Given the description of an element on the screen output the (x, y) to click on. 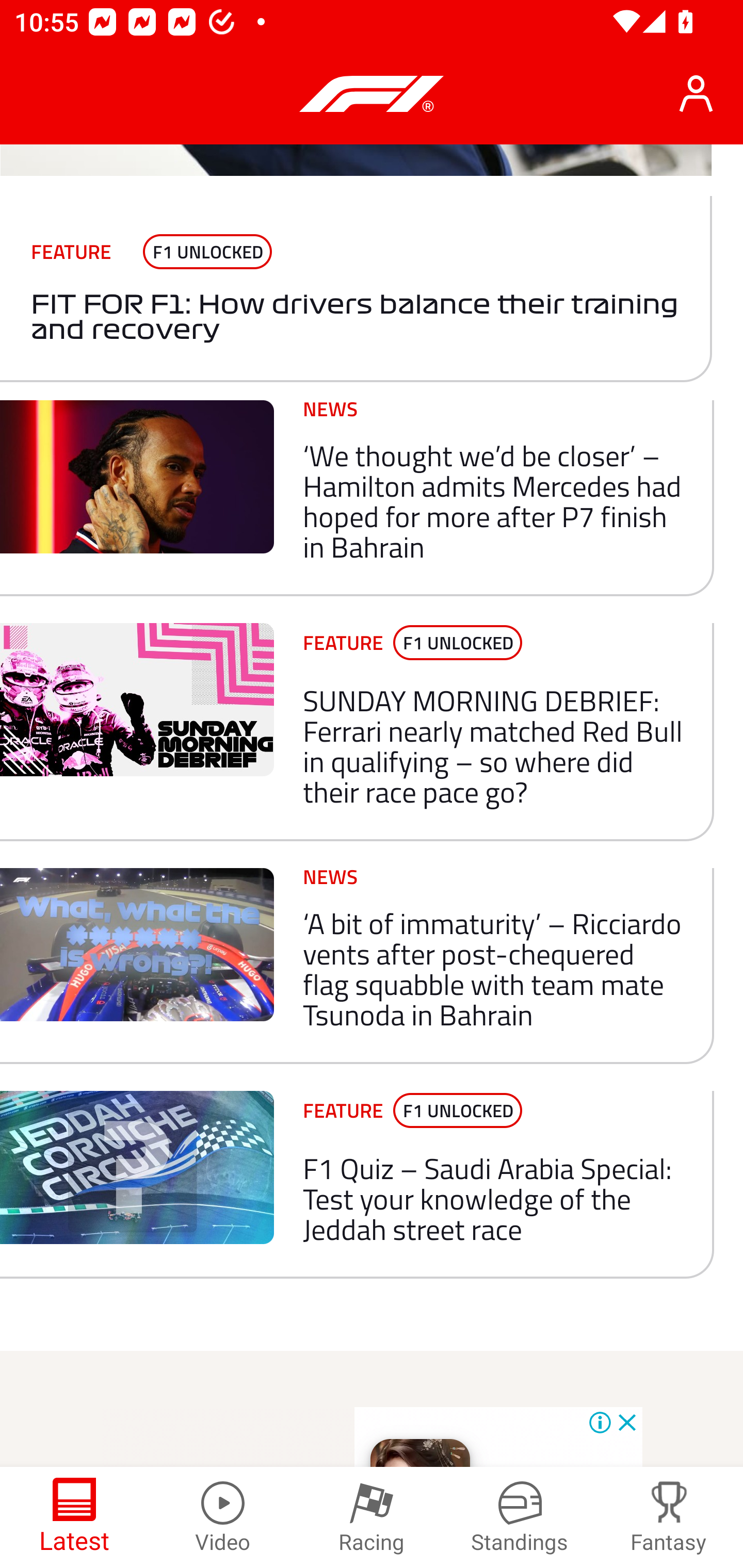
Video (222, 1517)
Racing (371, 1517)
Standings (519, 1517)
Fantasy (668, 1517)
